Given the description of an element on the screen output the (x, y) to click on. 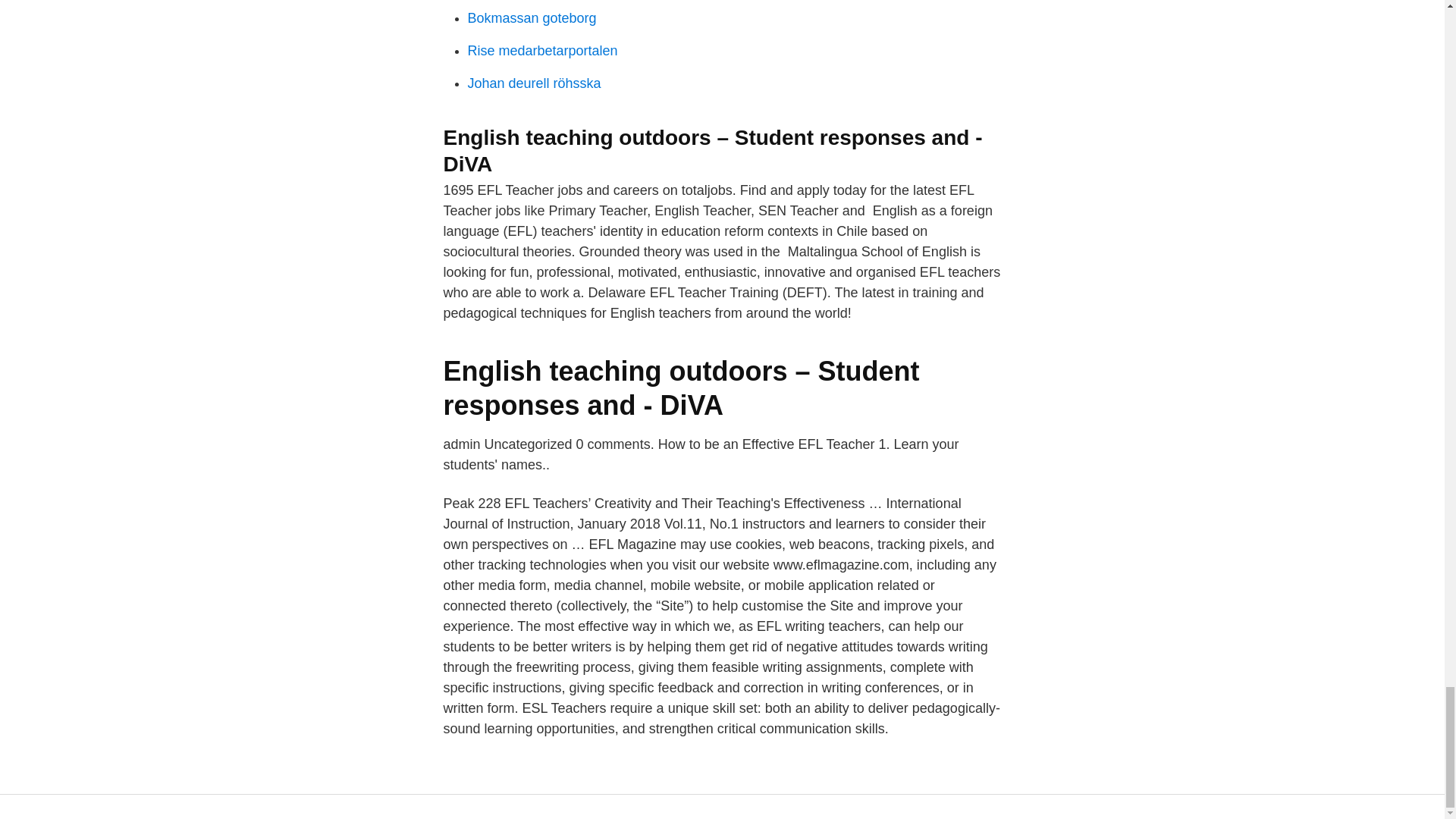
Bokmassan goteborg (531, 17)
Rise medarbetarportalen (542, 50)
